Given the description of an element on the screen output the (x, y) to click on. 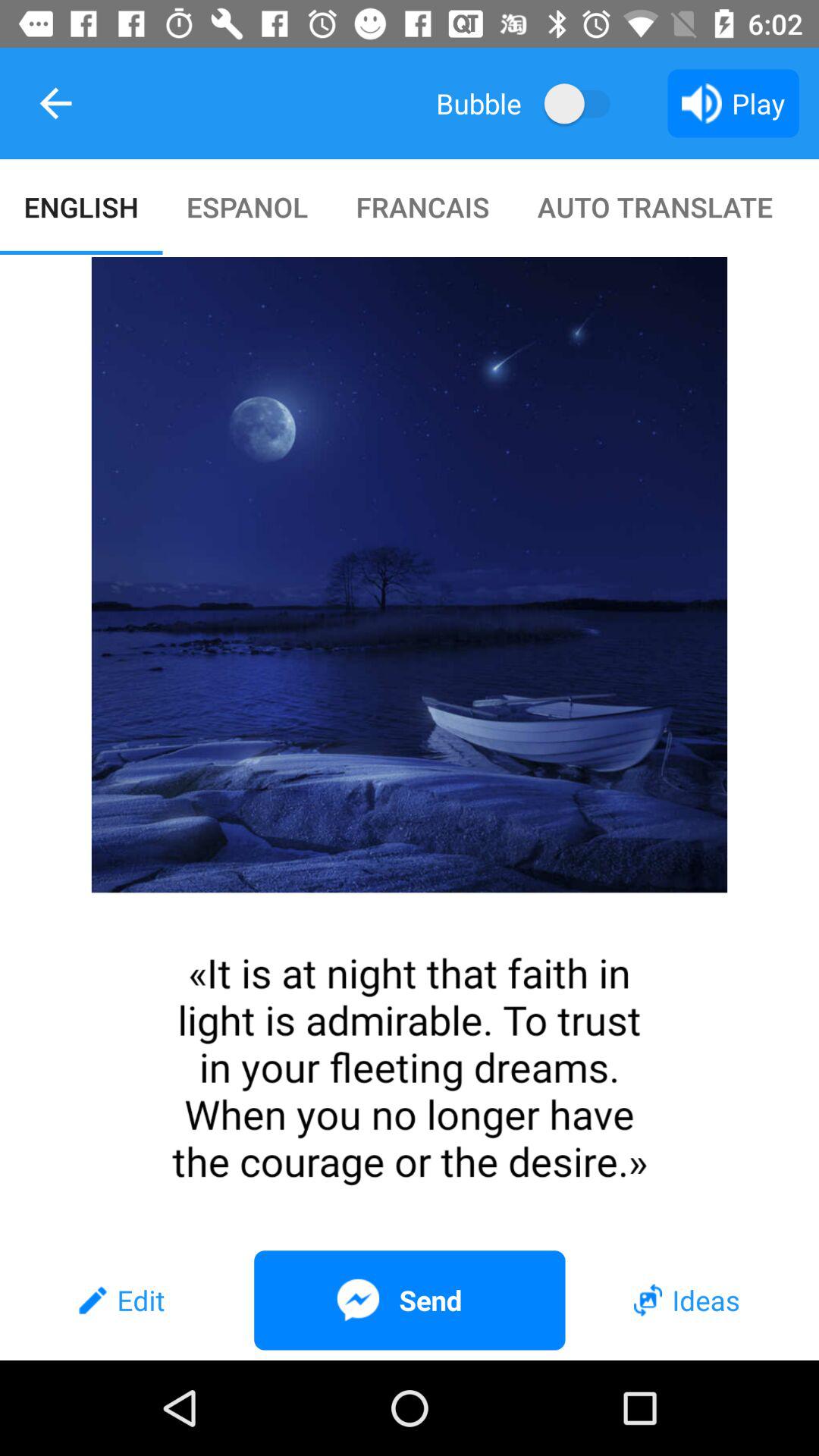
press the item next to the bubble item (55, 103)
